Given the description of an element on the screen output the (x, y) to click on. 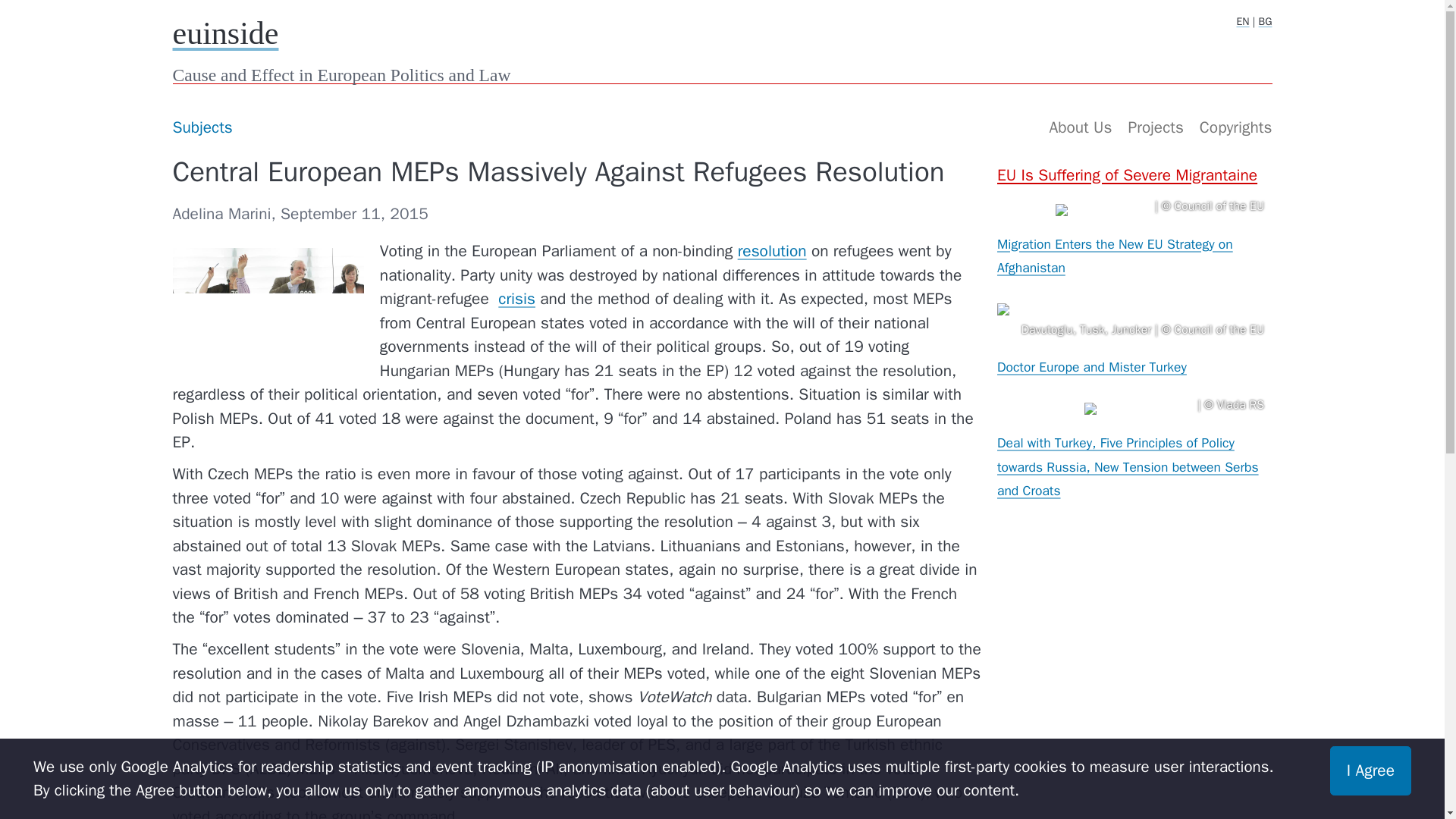
Subjects (202, 128)
euinside (226, 32)
crisis (516, 298)
resolution (772, 250)
